Given the description of an element on the screen output the (x, y) to click on. 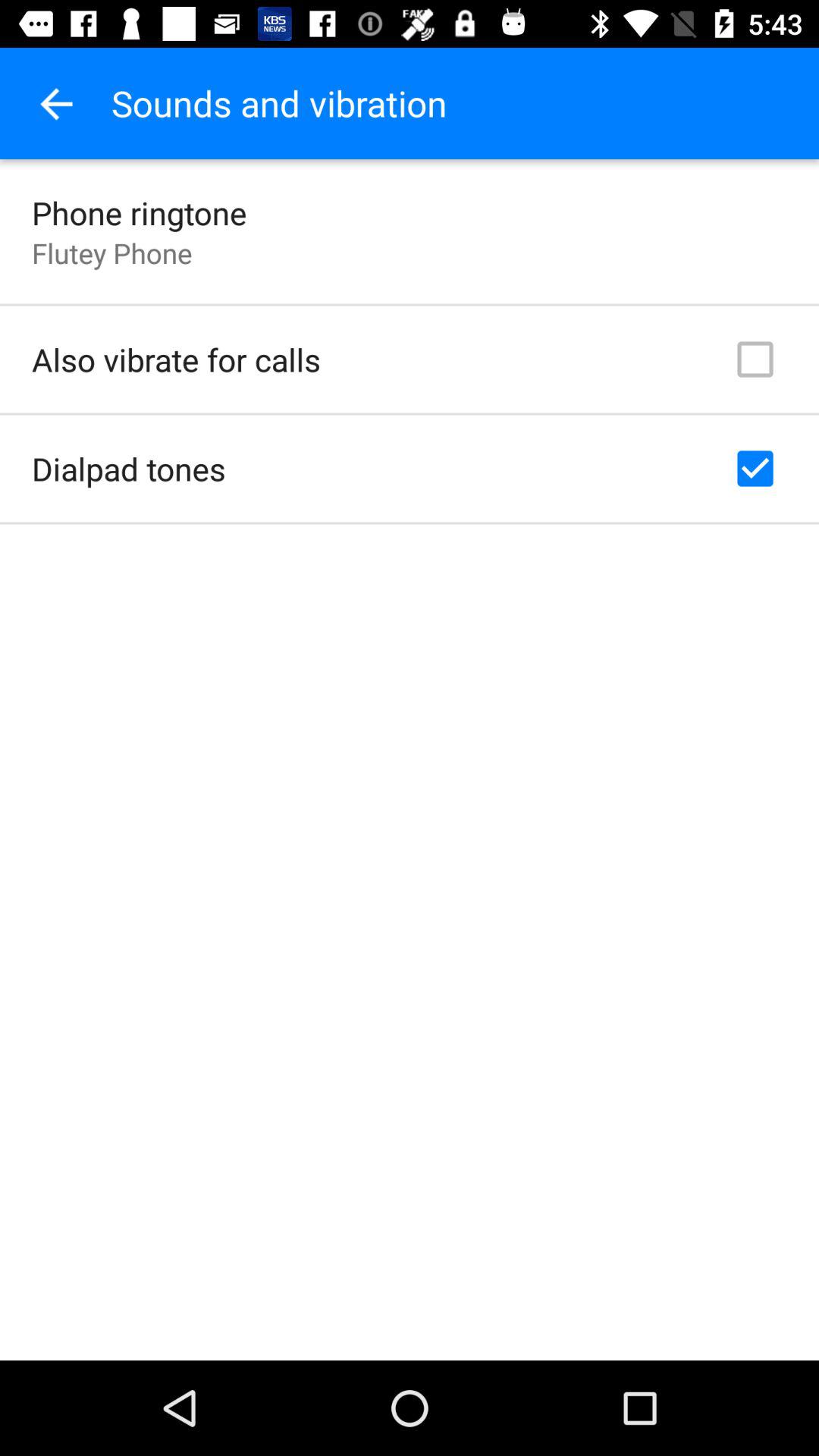
jump to phone ringtone item (138, 212)
